Given the description of an element on the screen output the (x, y) to click on. 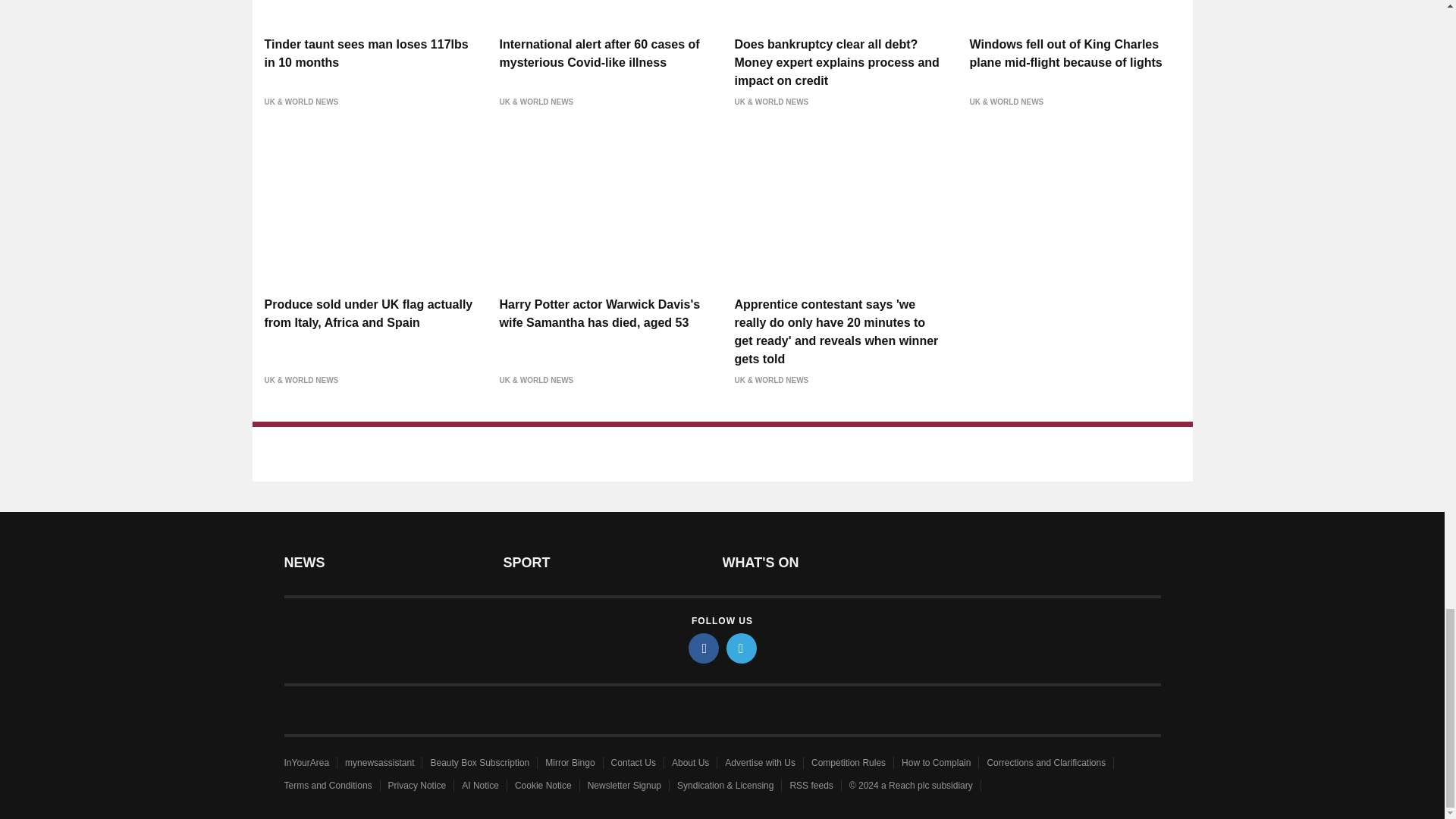
facebook (703, 648)
twitter (741, 648)
